Given the description of an element on the screen output the (x, y) to click on. 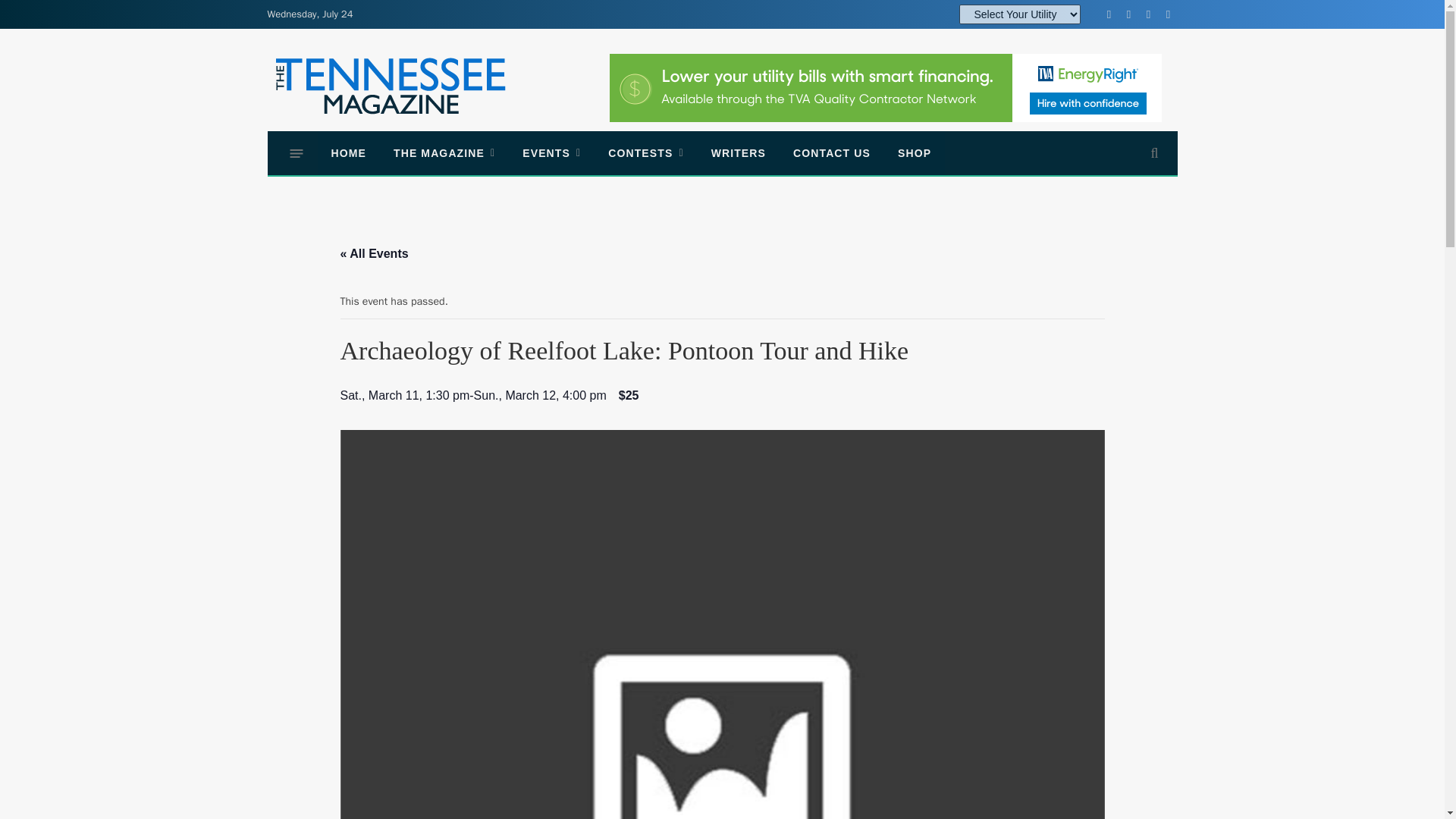
HOME (347, 153)
THE MAGAZINE (444, 153)
The Tennessee Magazine (389, 85)
